Given the description of an element on the screen output the (x, y) to click on. 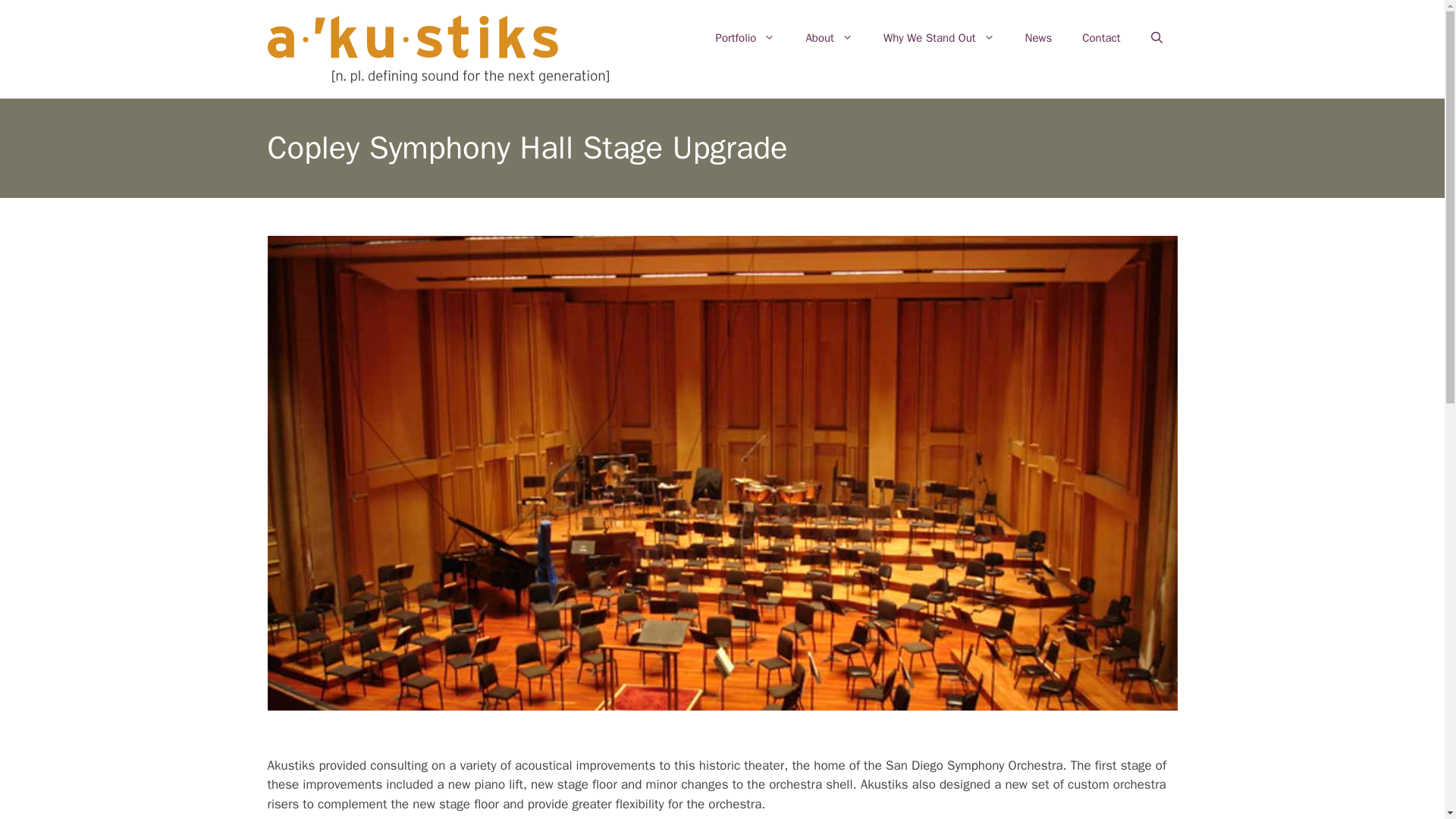
Why We Stand Out (938, 37)
About (828, 37)
Contact (1101, 37)
News (1038, 37)
Portfolio (745, 37)
